Given the description of an element on the screen output the (x, y) to click on. 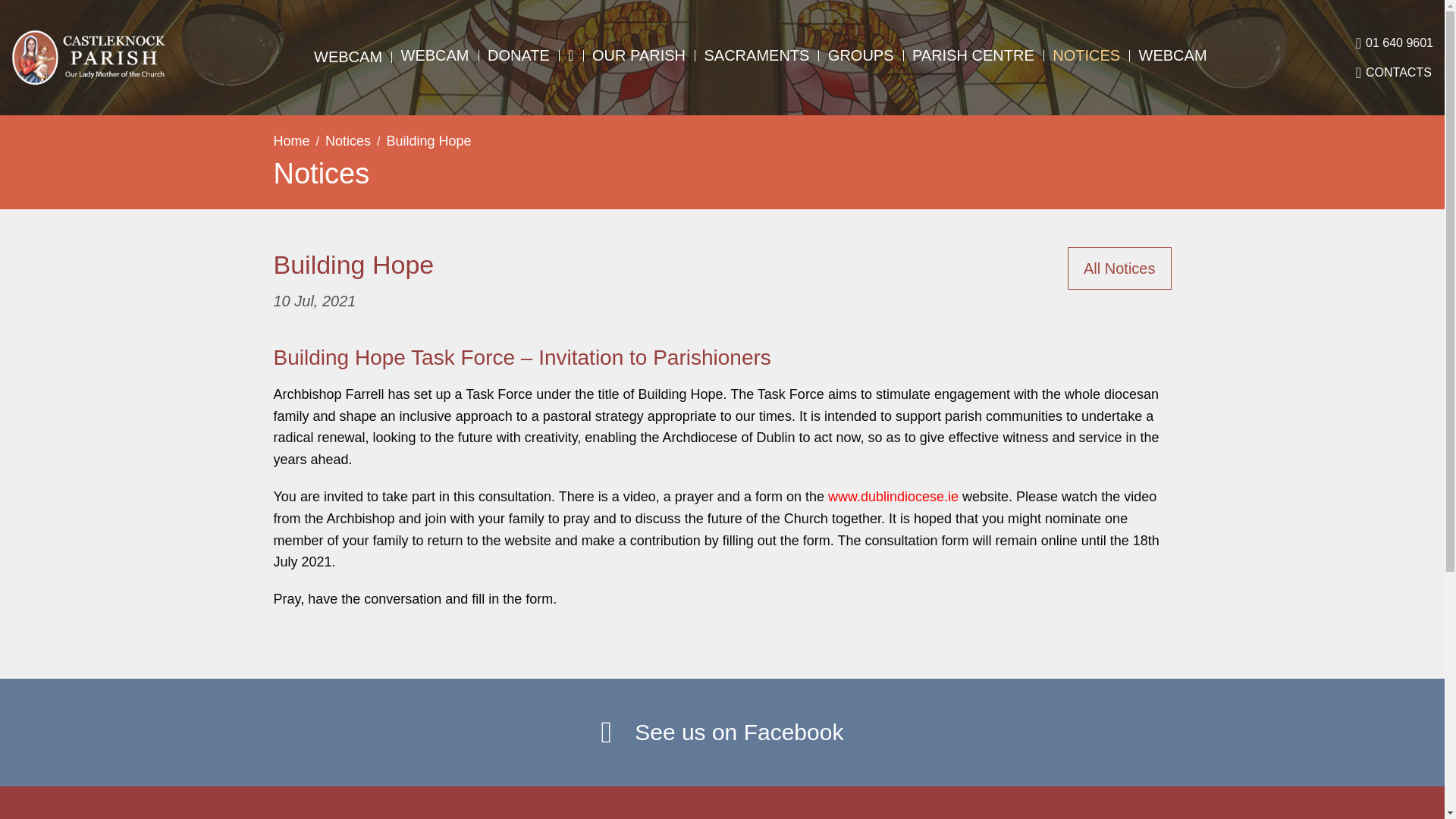
CONTACTS (1393, 72)
DONATE (518, 54)
WEBCAM (1172, 54)
WEBCAM (347, 56)
01 640 9601 (1393, 42)
NOTICES (1085, 54)
SACRAMENTS (756, 54)
WEBCAM (434, 54)
PARISH CENTRE (972, 54)
Home (290, 140)
GROUPS (860, 54)
OUR PARISH (638, 54)
